Given the description of an element on the screen output the (x, y) to click on. 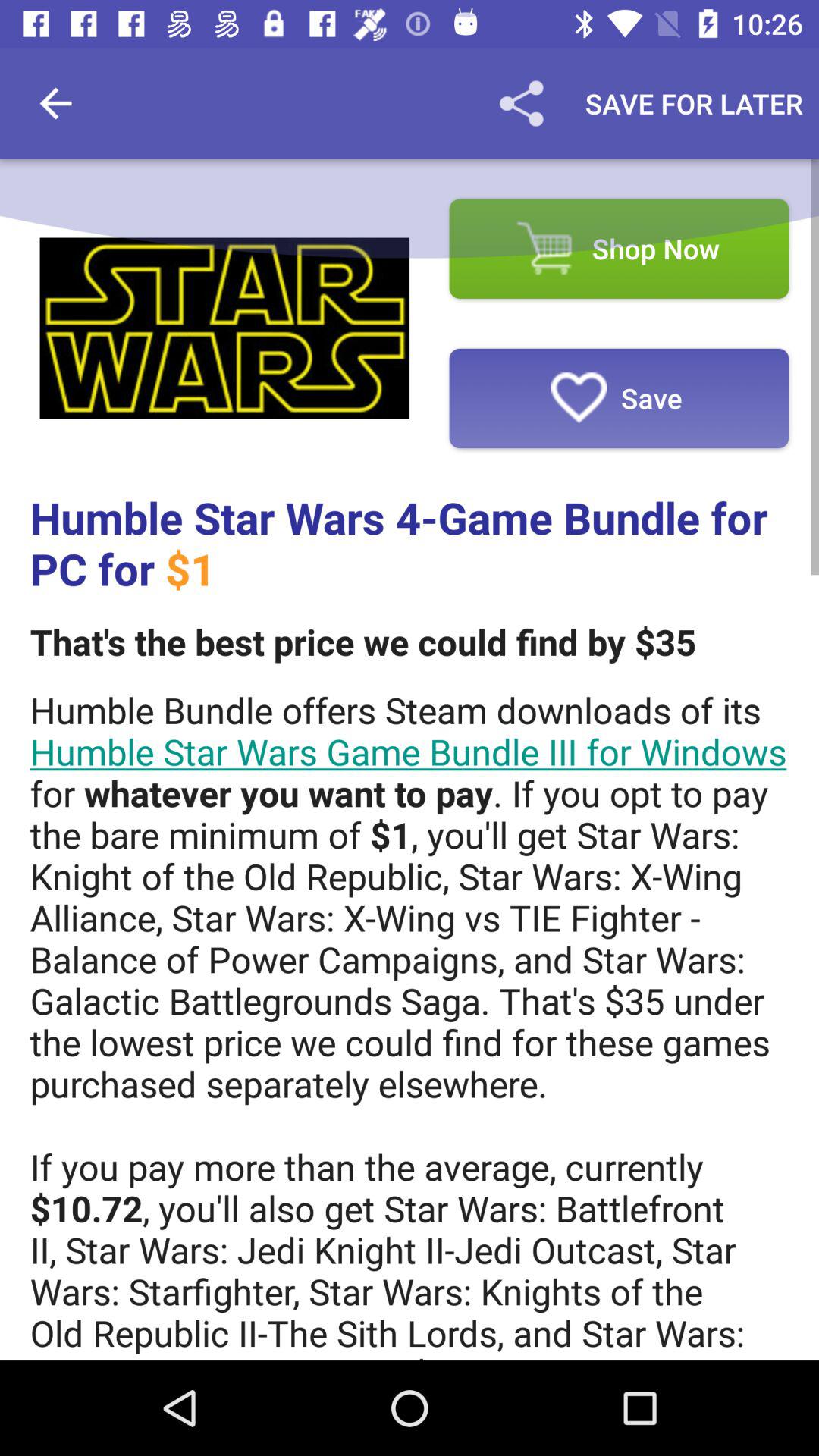
swipe to the shop now item (618, 248)
